Given the description of an element on the screen output the (x, y) to click on. 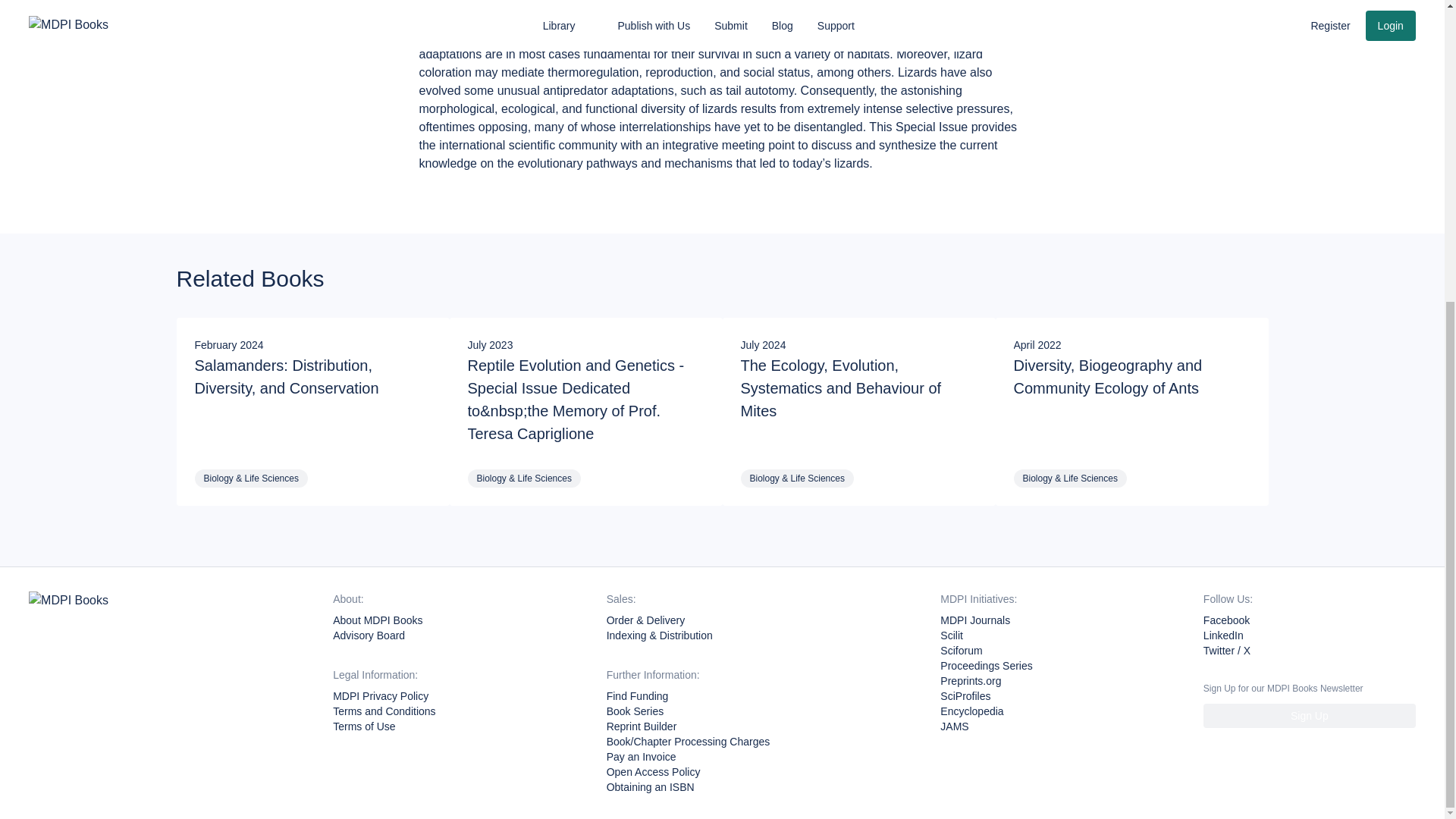
The Ecology, Evolution, Systematics and Behaviour of Mites (857, 406)
MDPI Privacy Policy (380, 695)
Find Funding (637, 695)
About MDPI Books (377, 620)
Terms and Conditions (384, 711)
Terms of Use (363, 726)
Advisory Board (368, 635)
Diversity, Biogeography and Community Ecology of Ants (1131, 406)
Salamanders: Distribution, Diversity, and Conservation (311, 406)
